Given the description of an element on the screen output the (x, y) to click on. 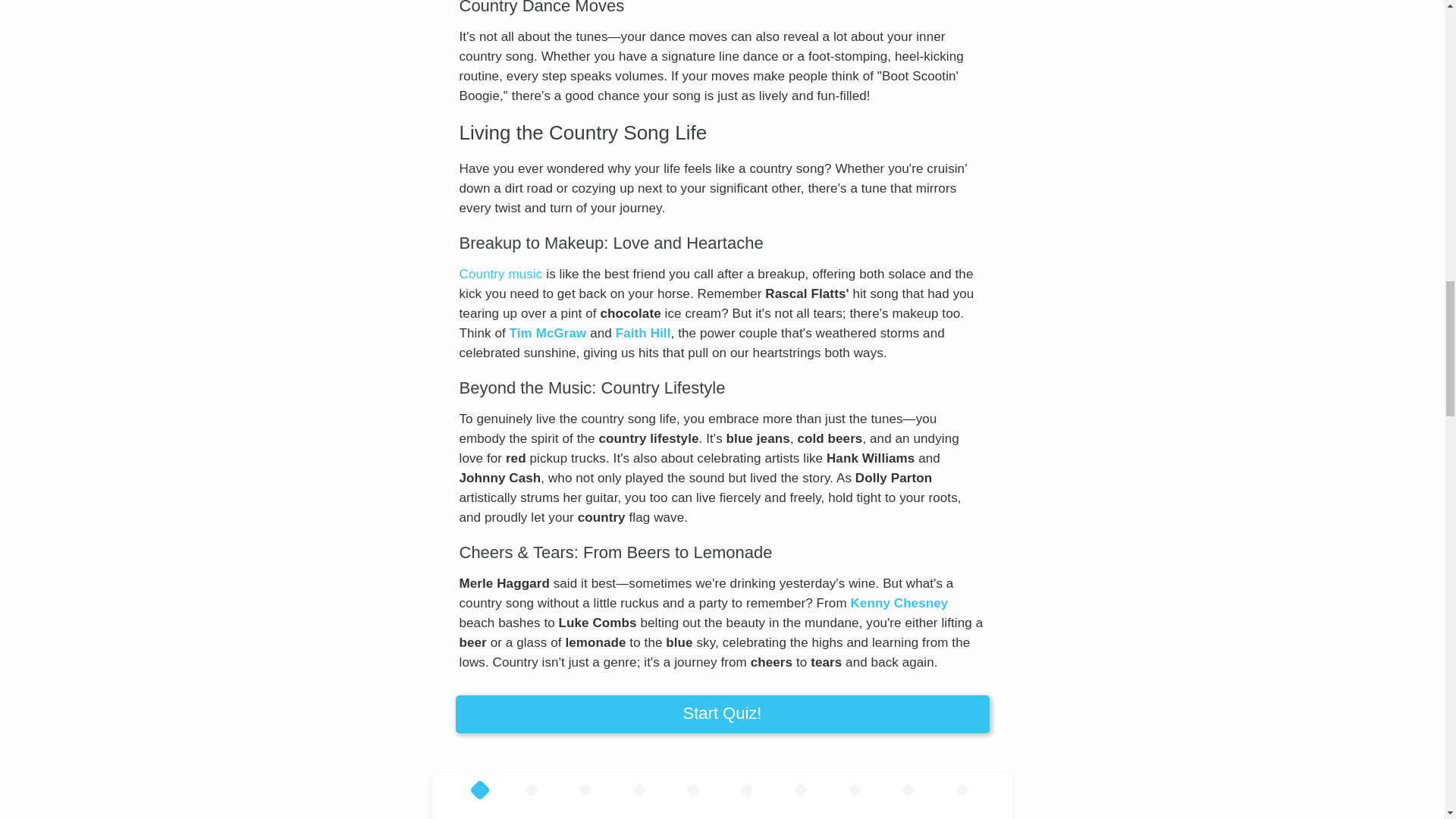
Start Quiz! (721, 714)
